Given the description of an element on the screen output the (x, y) to click on. 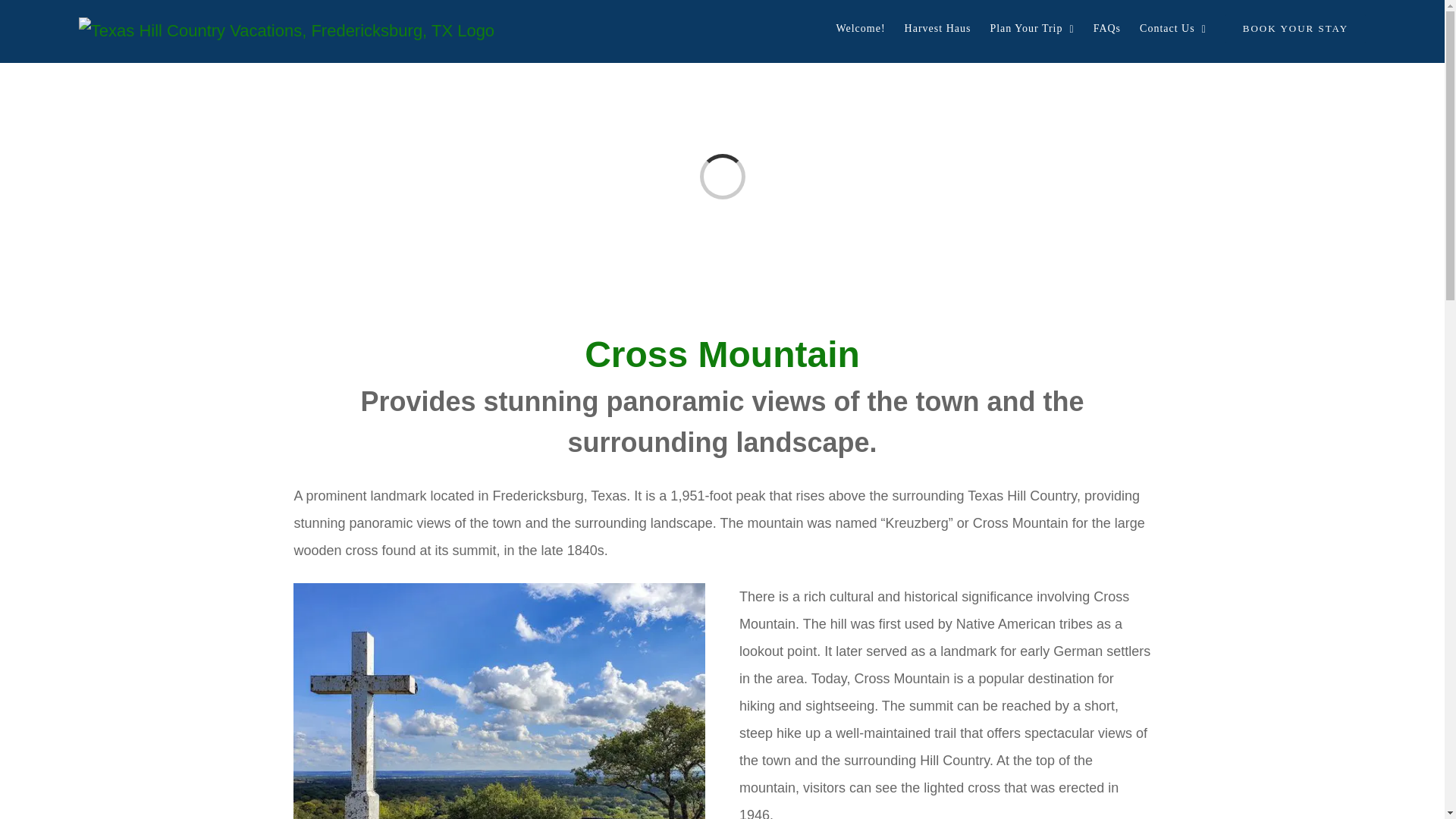
Plan Your Trip (1032, 28)
Contact Us (1173, 28)
FAQs (1107, 28)
Cross Mountain (499, 701)
Cross Mountain (722, 354)
Welcome! (860, 28)
BOOK YOUR STAY (1295, 28)
Harvest Haus (937, 28)
